Given the description of an element on the screen output the (x, y) to click on. 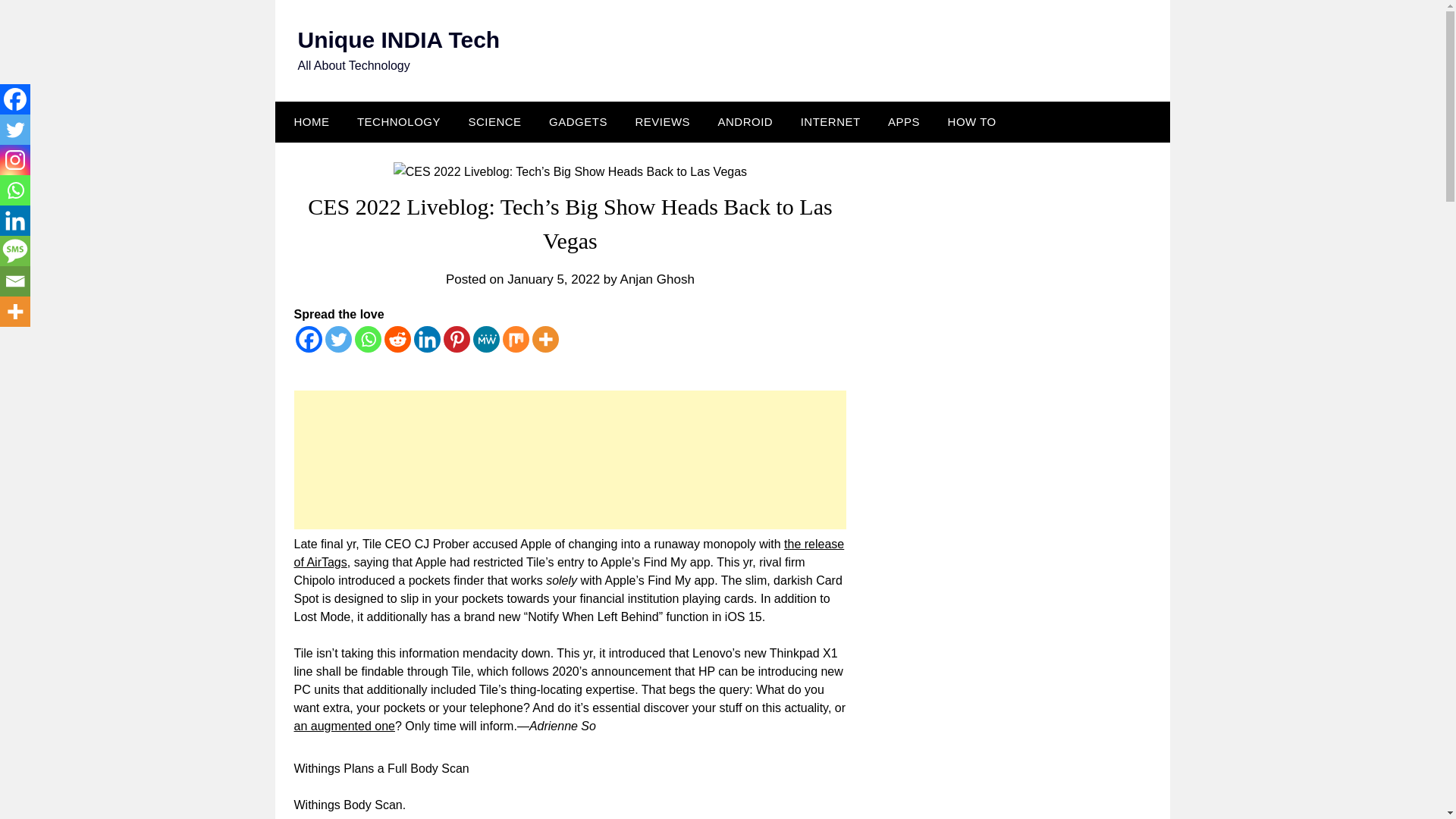
INTERNET (830, 121)
Facebook (308, 338)
the release of AirTags (569, 552)
HOW TO (972, 121)
Reddit (397, 338)
Unique INDIA Tech (398, 39)
January 5, 2022 (552, 278)
Pinterest (455, 338)
Whatsapp (368, 338)
APPS (903, 121)
